Given the description of an element on the screen output the (x, y) to click on. 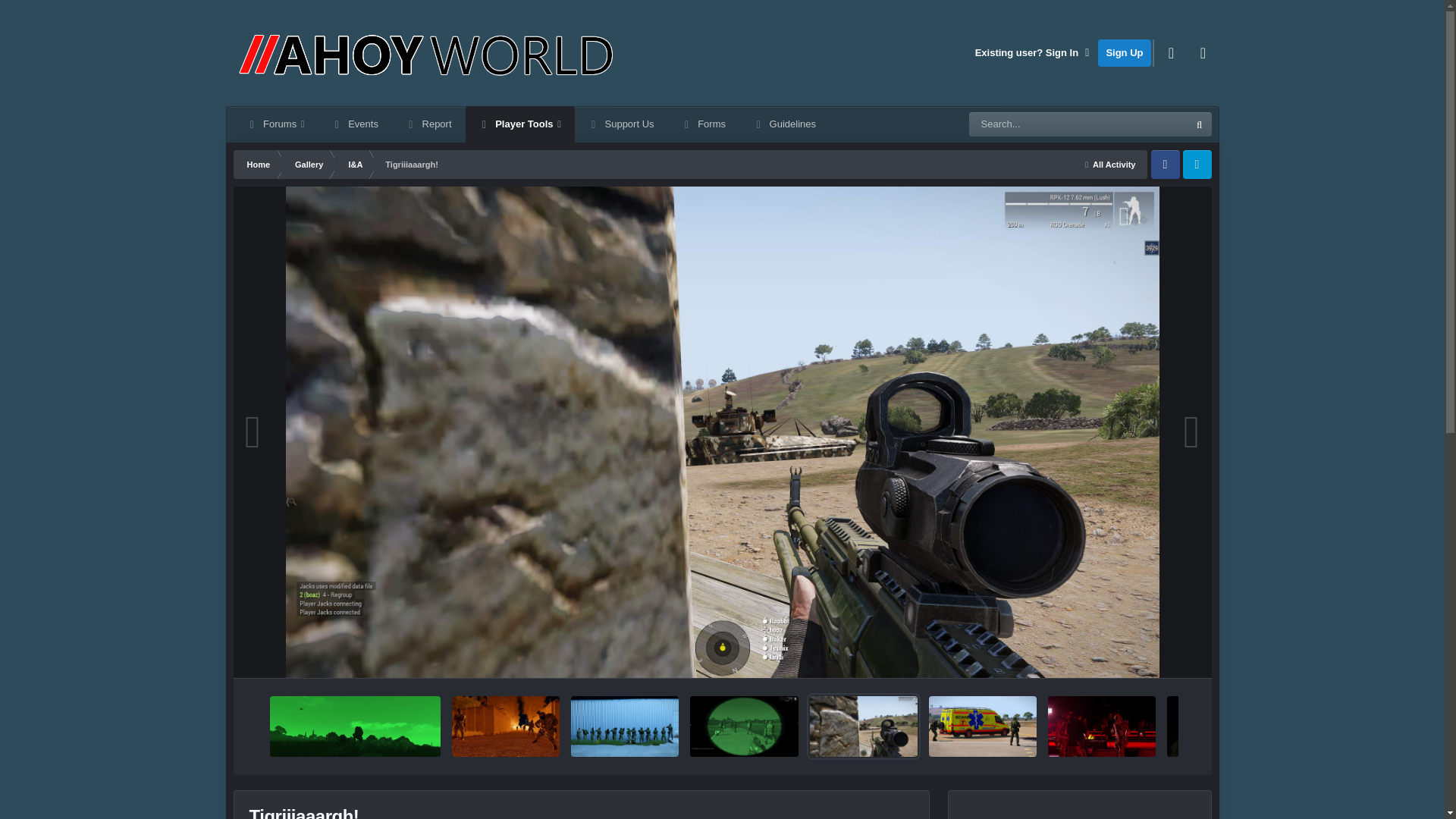
Existing user? Sign In   (1033, 52)
View the image NO WAR! (982, 726)
View the image Malden Reprisal - Week One (624, 726)
Gallery (307, 164)
View the image Tigriiiaaargh! (863, 726)
Forms (703, 124)
Customizer (1172, 52)
All Activity (1110, 164)
Support Us (621, 124)
Report (428, 124)
Player Tools (520, 124)
Light Mode (1204, 52)
View the image Pawnee Spotted (355, 726)
Home (257, 164)
Forums (275, 124)
